Given the description of an element on the screen output the (x, y) to click on. 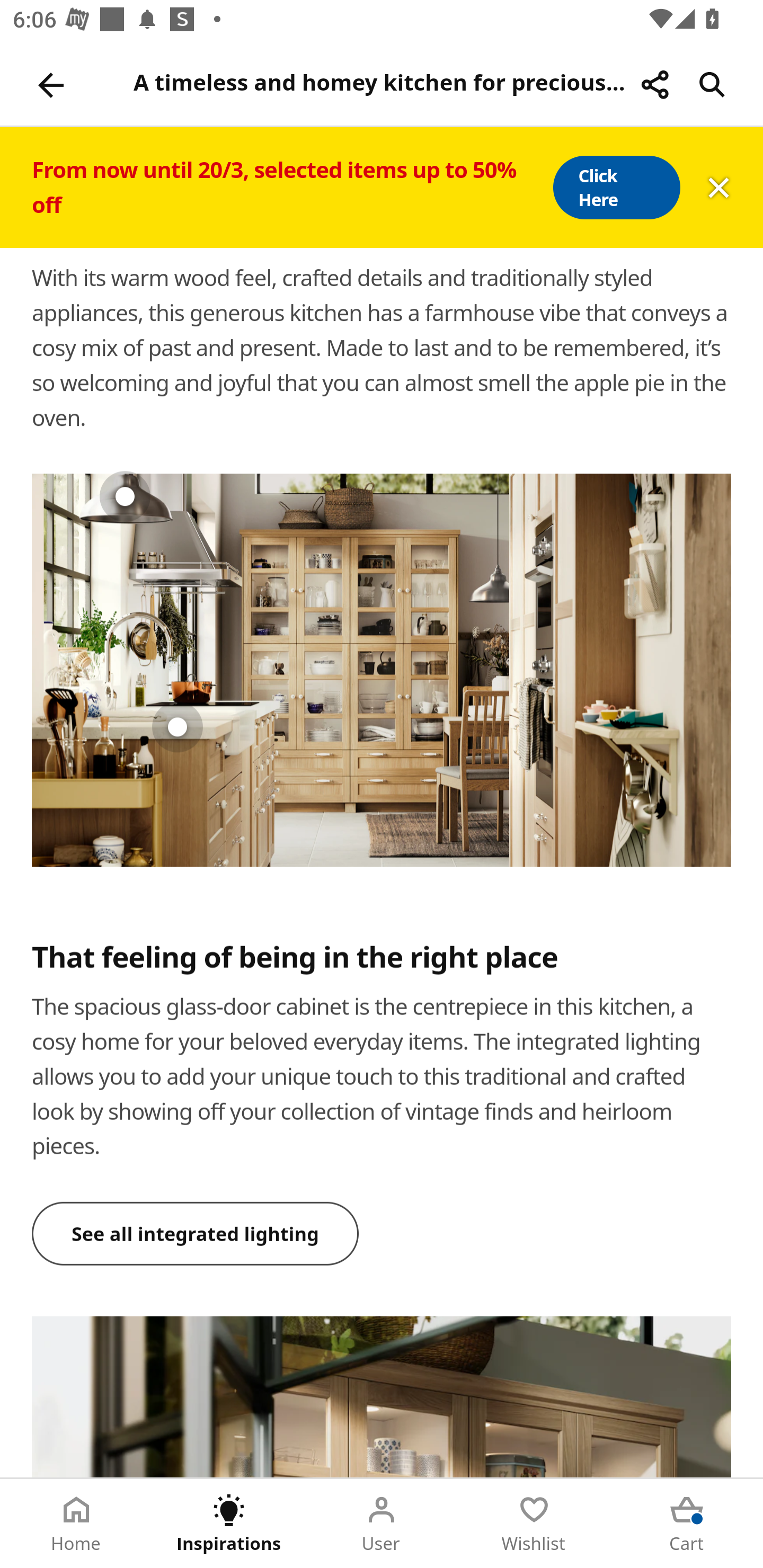
Click Here (615, 187)
See all integrated lighting (195, 1233)
Home
Tab 1 of 5 (76, 1522)
Inspirations
Tab 2 of 5 (228, 1522)
User
Tab 3 of 5 (381, 1522)
Wishlist
Tab 4 of 5 (533, 1522)
Cart
Tab 5 of 5 (686, 1522)
